Given the description of an element on the screen output the (x, y) to click on. 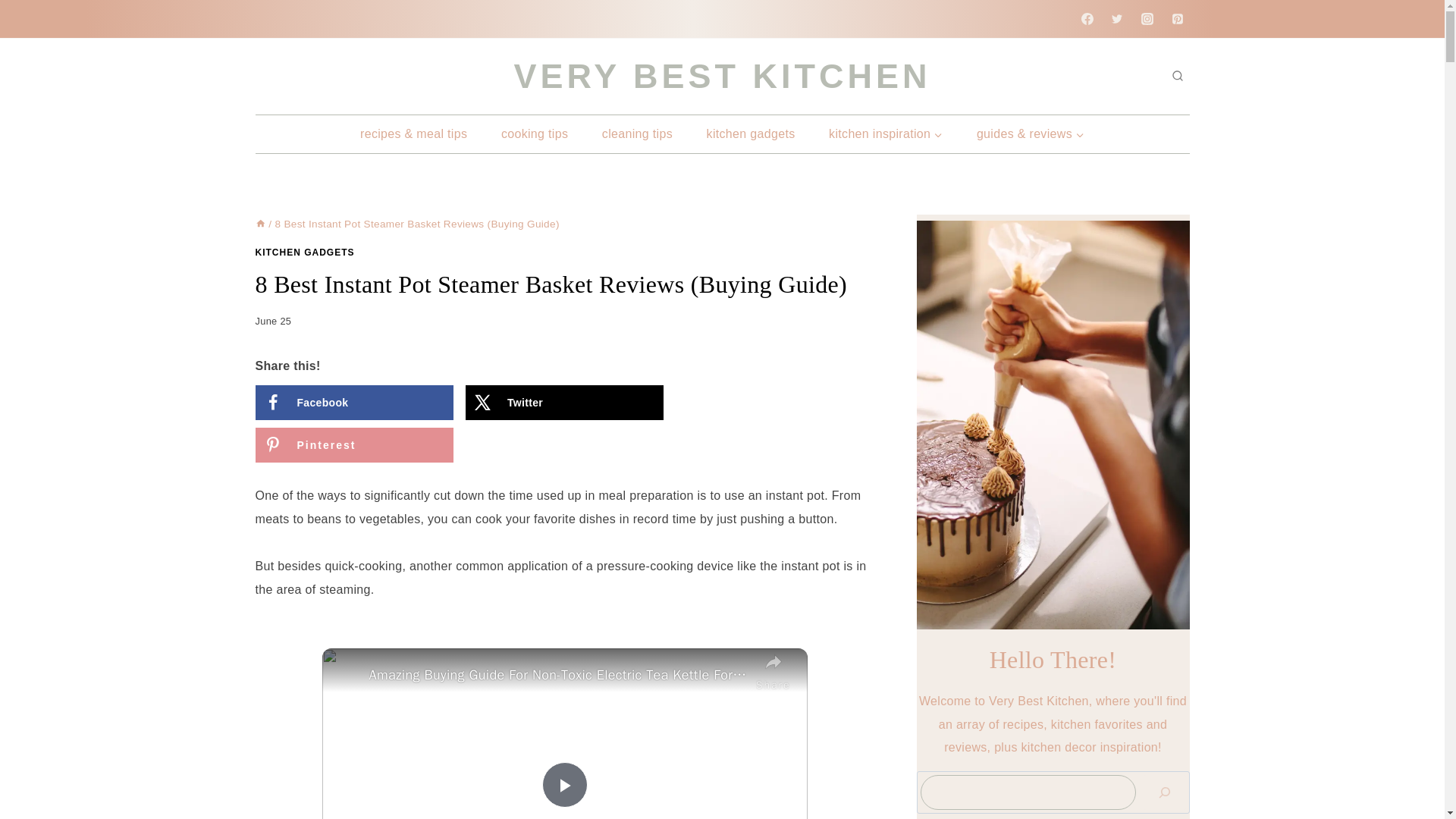
kitchen gadgets (750, 134)
KITCHEN GADGETS (303, 252)
Save to Pinterest (353, 444)
Play Video (563, 784)
cleaning tips (637, 134)
cooking tips (534, 134)
kitchen inspiration (885, 134)
Home (259, 224)
Share on Facebook (353, 402)
Pinterest (353, 444)
